Given the description of an element on the screen output the (x, y) to click on. 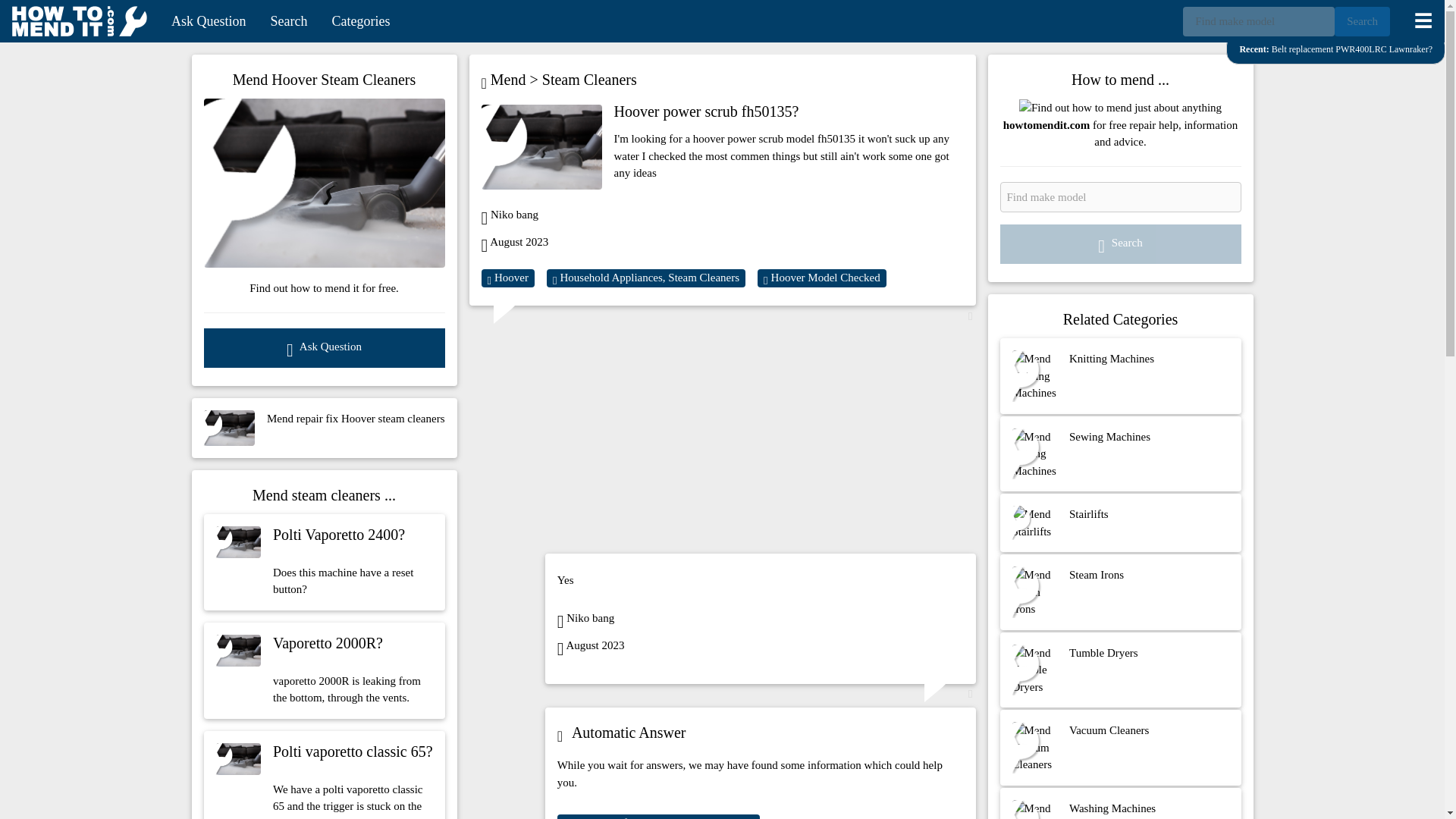
Steam Cleaners (589, 79)
Categories (359, 20)
Search (287, 20)
Search (1362, 21)
Ask Question (208, 20)
Click here for Hoover Model Checked (658, 816)
Ask Question (323, 347)
Mend repair fix Hoover steam cleaners (323, 427)
Hoover (507, 278)
Household Appliances, Steam Cleaners (646, 278)
Hoover Model Checked (323, 562)
